Given the description of an element on the screen output the (x, y) to click on. 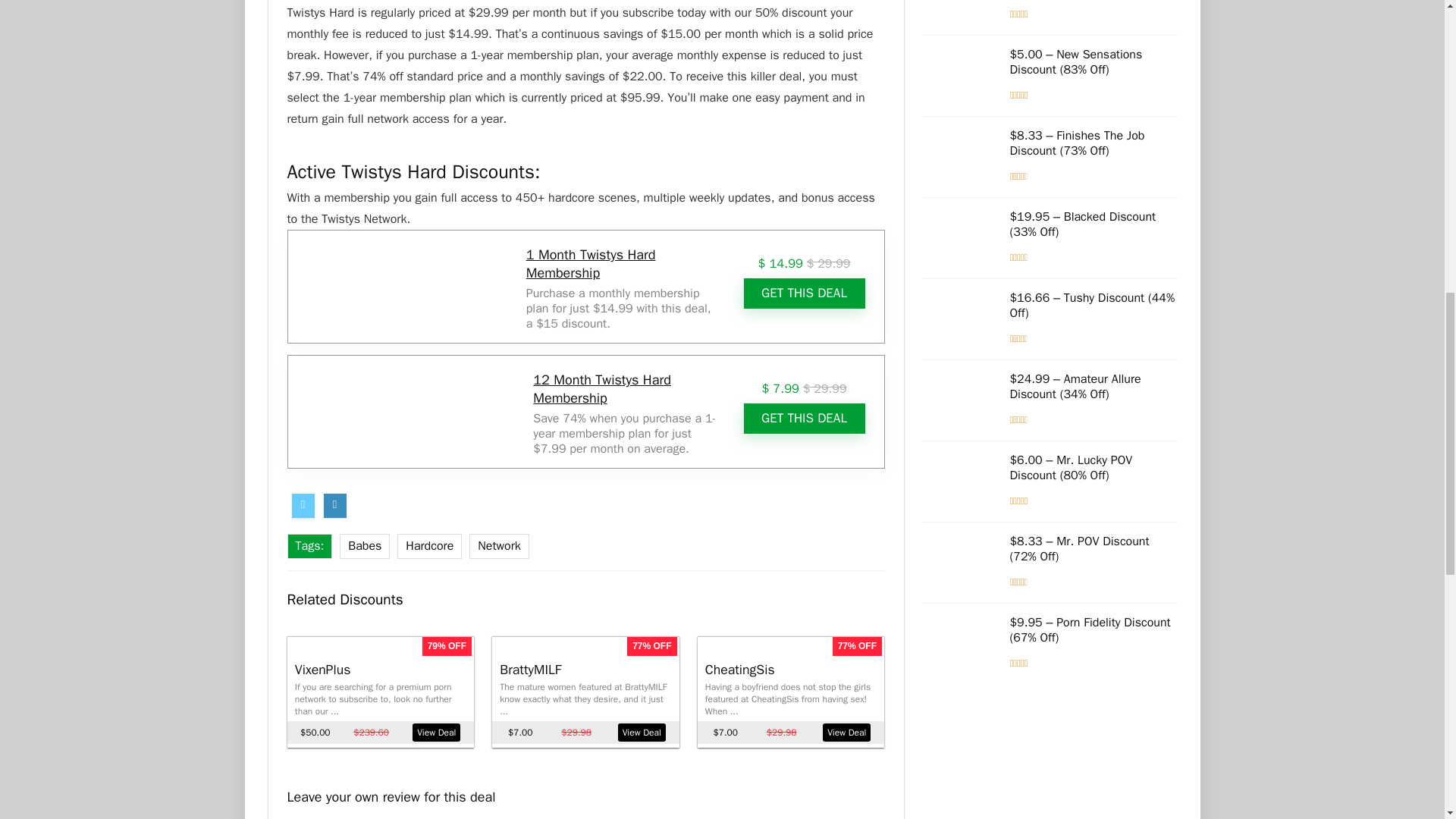
Hardcore (429, 545)
Babes (364, 545)
View Deal (846, 732)
View Deal (436, 732)
1 Month Twistys Hard Membership (590, 263)
View Deal (641, 732)
GET THIS DEAL (803, 418)
12 Month Twistys Hard Membership (601, 388)
GET THIS DEAL (803, 293)
VixenPlus (322, 669)
